Given the description of an element on the screen output the (x, y) to click on. 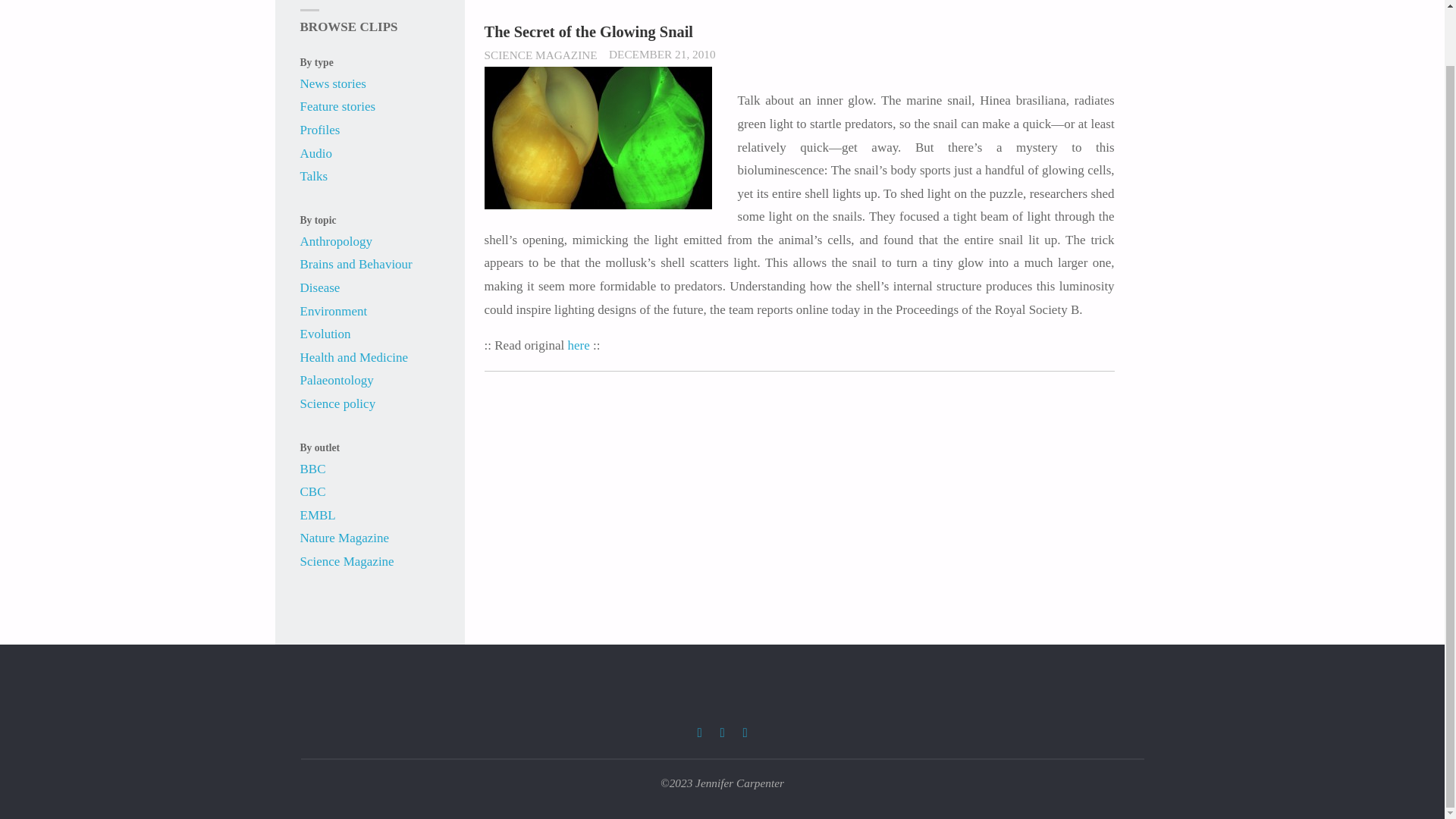
Brains and Behaviour (355, 264)
Linkedin (722, 733)
CBC (312, 491)
Email (745, 733)
Science Magazine (346, 561)
Environment (333, 310)
Health and Medicine (354, 357)
Nature Magazine (344, 537)
here (578, 345)
Evolution (324, 333)
Anthropology (335, 241)
sn-snails (597, 137)
Profiles (319, 129)
Palaeontology (336, 380)
News stories (332, 83)
